Given the description of an element on the screen output the (x, y) to click on. 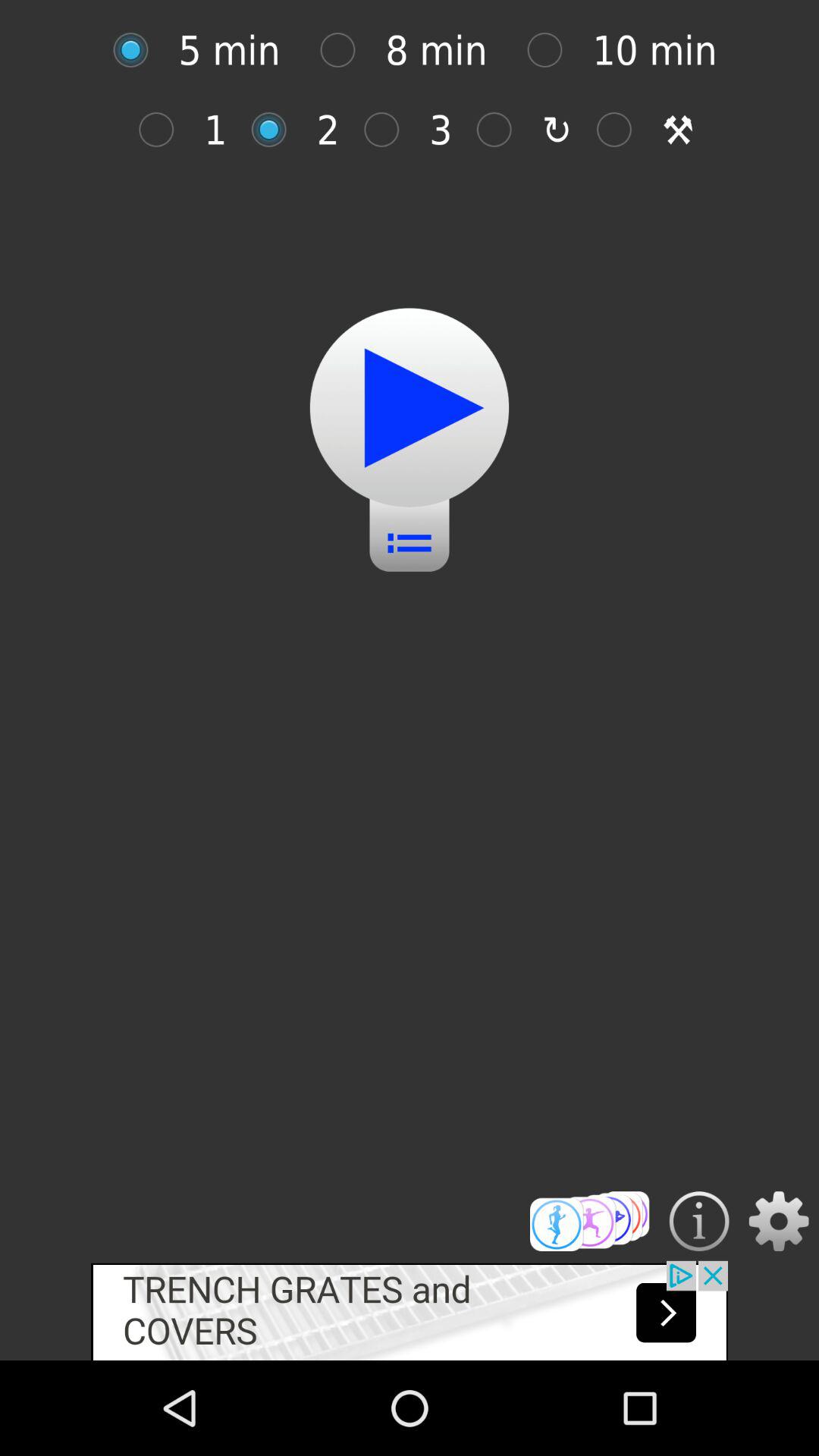
toggle 8 min option (345, 49)
